Given the description of an element on the screen output the (x, y) to click on. 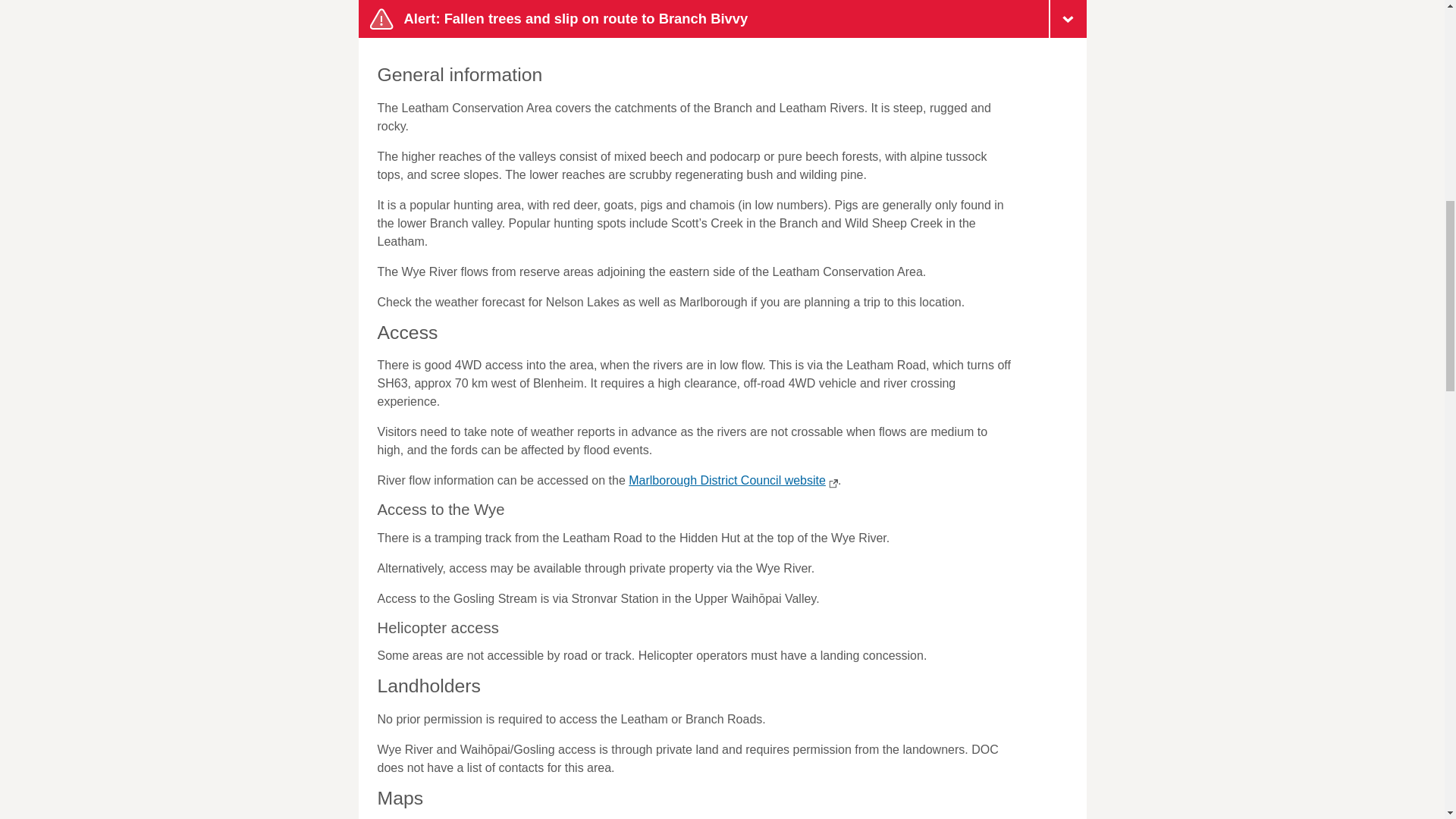
External site link (831, 483)
